Given the description of an element on the screen output the (x, y) to click on. 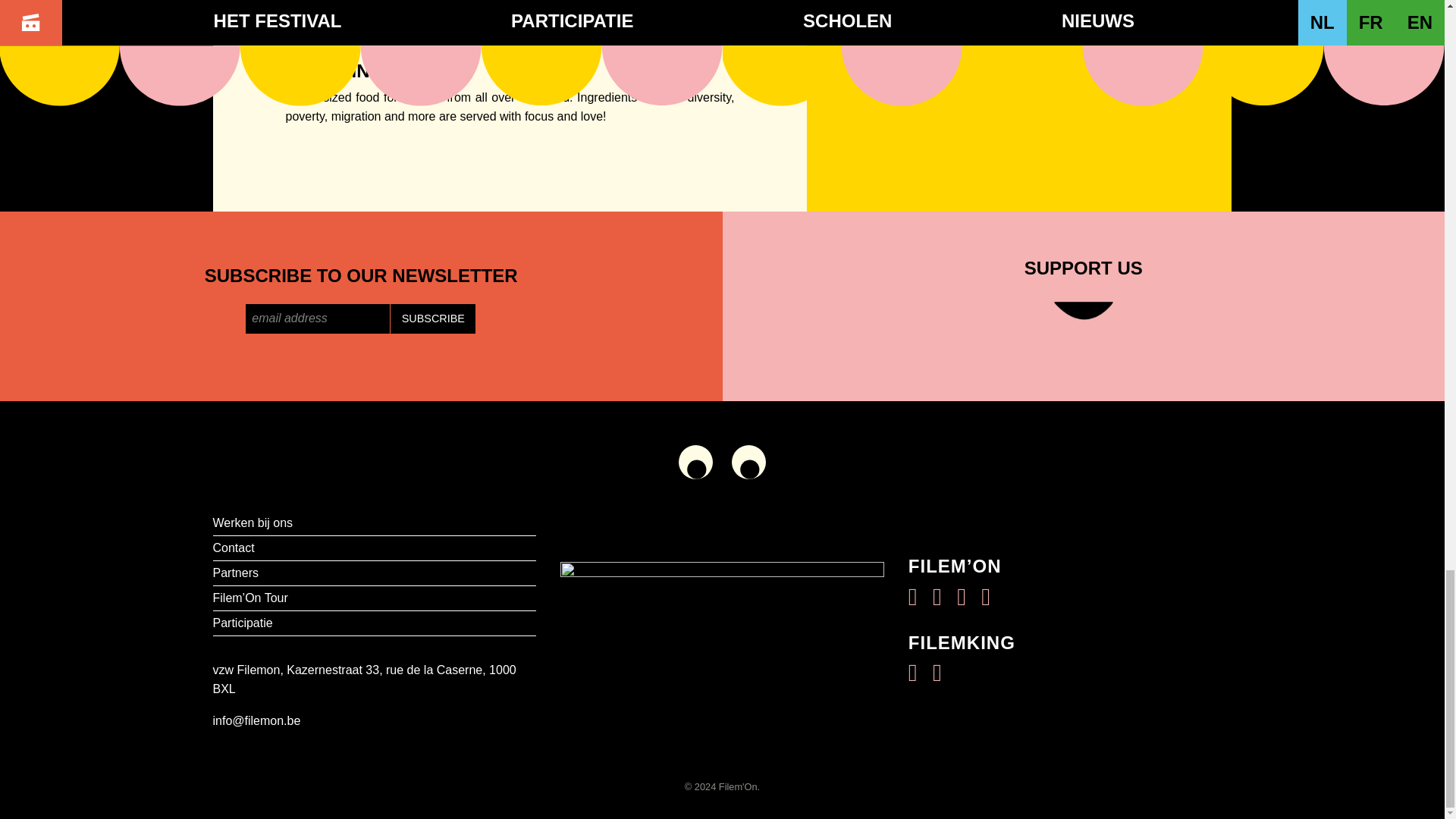
Subscribe (433, 318)
Subscribe (433, 318)
Contact (373, 548)
Partners (373, 573)
Werken bij ons (373, 523)
SUPPORT US (1083, 305)
Participatie (373, 622)
